Given the description of an element on the screen output the (x, y) to click on. 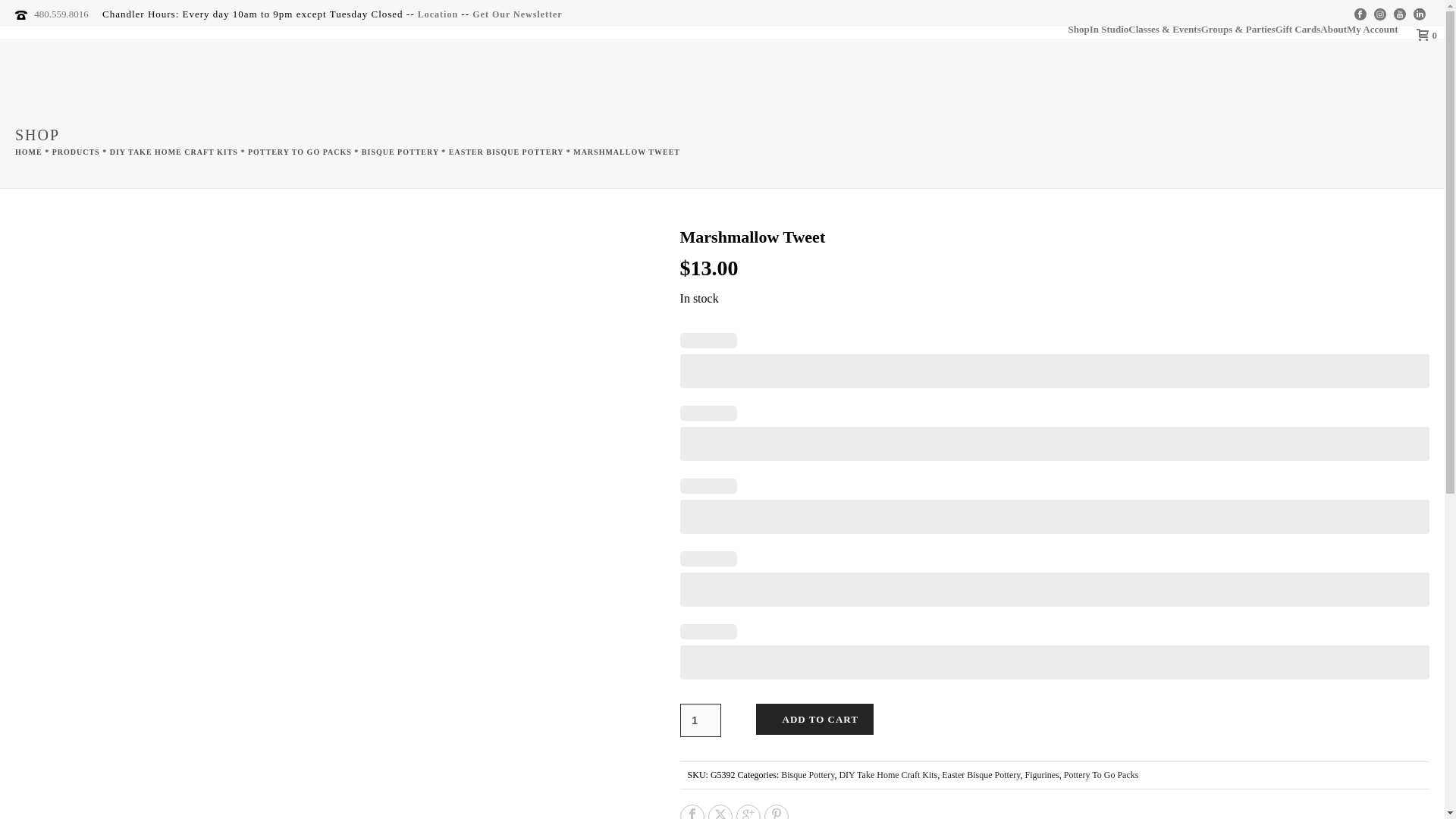
In Studio (1109, 29)
In Studio (1109, 29)
Get Our Newsletter (516, 14)
Gift Cards (1297, 29)
Shop (1078, 29)
Location (437, 14)
Gift Cards (1297, 29)
My Account (1371, 29)
About (1333, 29)
1 (699, 720)
